Given the description of an element on the screen output the (x, y) to click on. 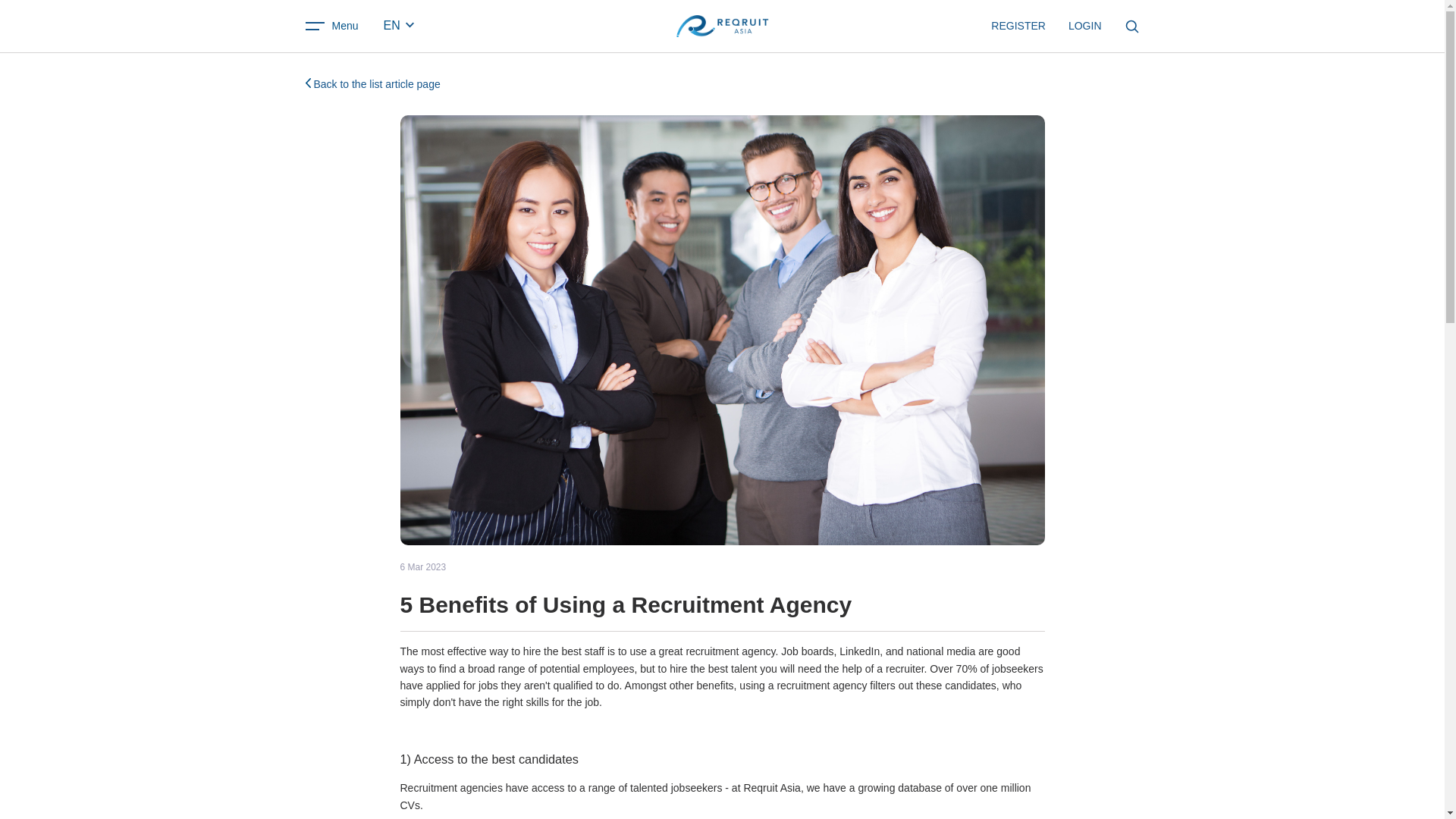
Back (371, 83)
Reqruit (722, 26)
Login (1085, 25)
REGISTER (1018, 25)
LOGIN (1085, 25)
Back to the list article page (371, 83)
Register (1018, 25)
    Menu (331, 25)
